Given the description of an element on the screen output the (x, y) to click on. 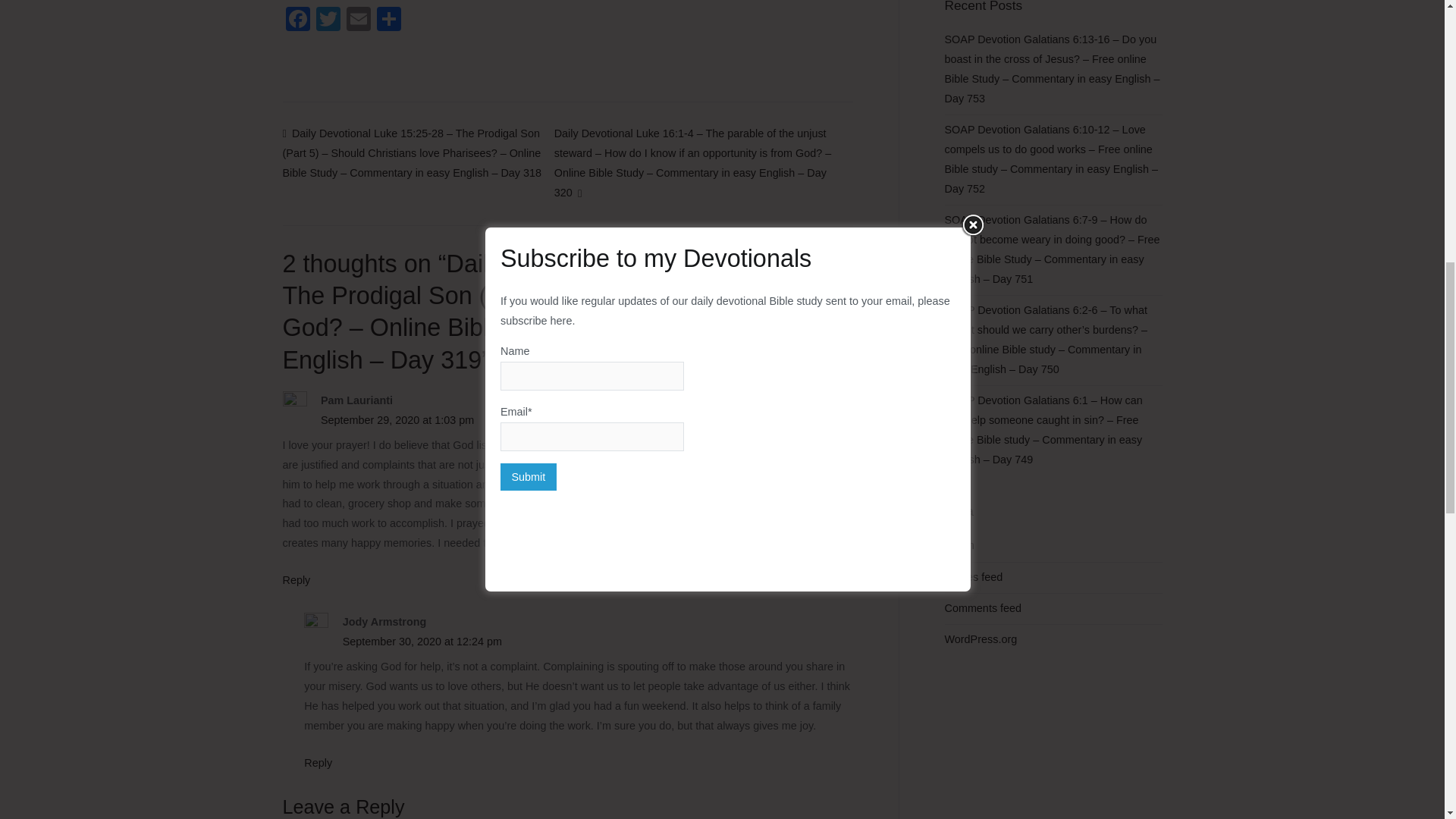
September 30, 2020 at 12:24 pm (422, 641)
Log in (959, 545)
Email (357, 20)
Twitter (327, 20)
Email (357, 20)
Entries feed (973, 577)
Reply (296, 580)
Facebook (297, 20)
Twitter (327, 20)
Reply (317, 762)
Share (387, 20)
September 29, 2020 at 1:03 pm (397, 419)
Comments feed (983, 608)
Facebook (297, 20)
WordPress.org (980, 639)
